Given the description of an element on the screen output the (x, y) to click on. 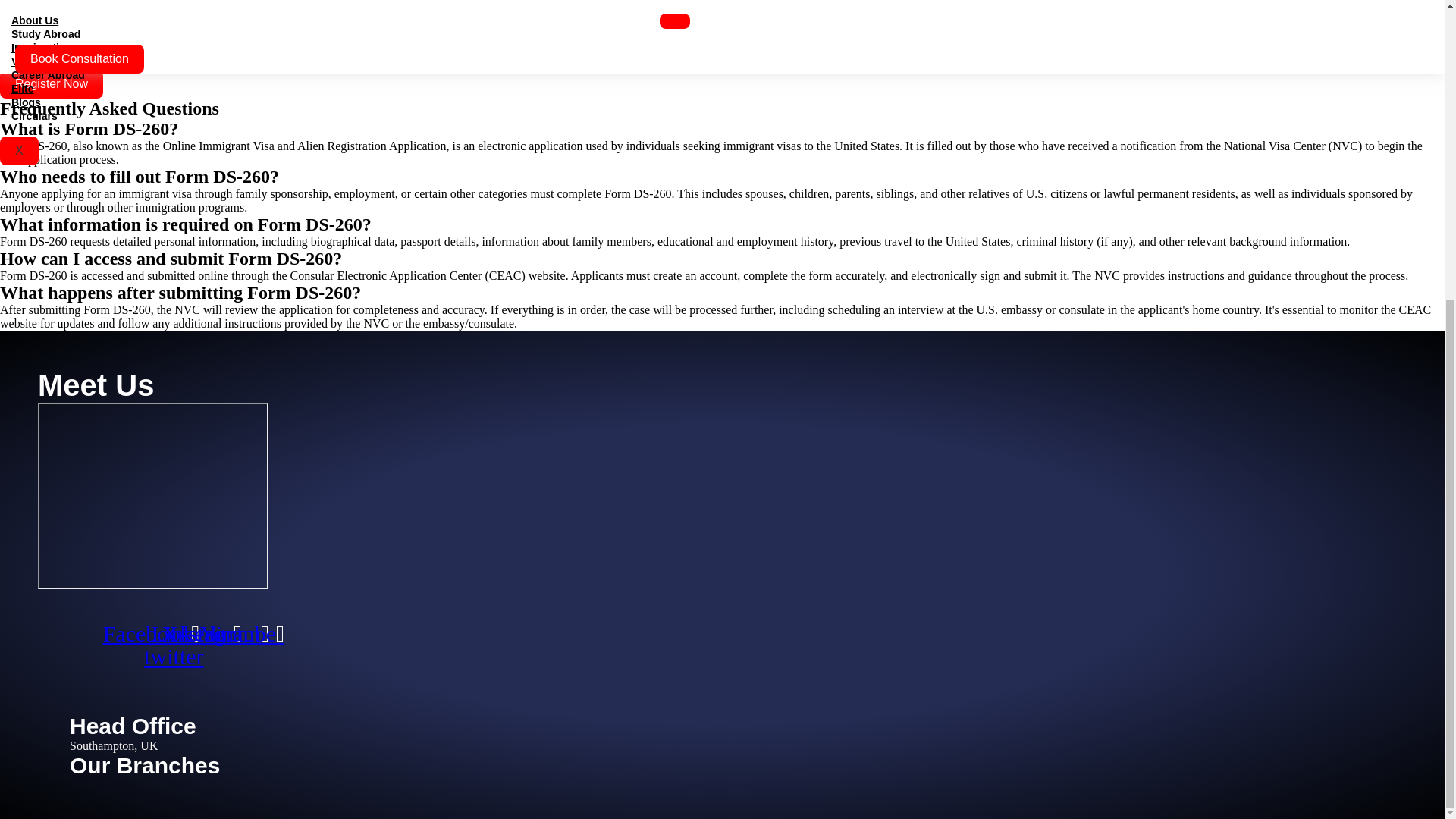
Linkedin (196, 633)
Register Now (51, 83)
Facebook (150, 633)
X-twitter (172, 644)
Youtube (241, 633)
Irish Expert -Overseas (152, 495)
Instagram (219, 633)
